Given the description of an element on the screen output the (x, y) to click on. 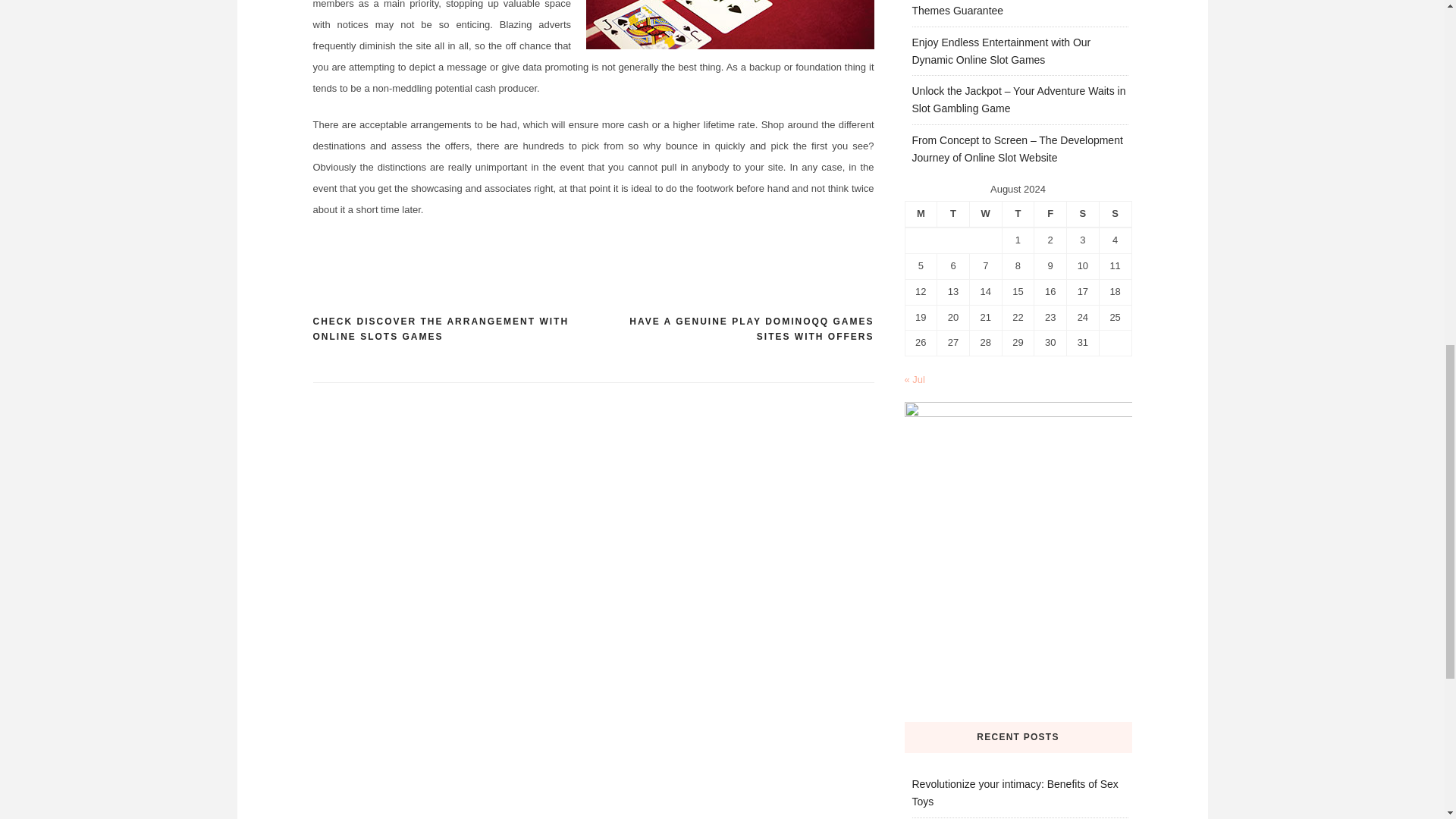
HAVE A GENUINE PLAY DOMINOQQ GAMES SITES WITH OFFERS (732, 328)
Tuesday (953, 214)
Thursday (1017, 214)
The Influence of Pop Culture on Online Slot Themes Guarantee (1013, 8)
Sunday (1115, 214)
Revolutionize your intimacy: Benefits of Sex Toys (1014, 792)
CHECK DISCOVER THE ARRANGEMENT WITH ONLINE SLOTS GAMES (452, 328)
Friday (1050, 214)
Monday (920, 214)
